Given the description of an element on the screen output the (x, y) to click on. 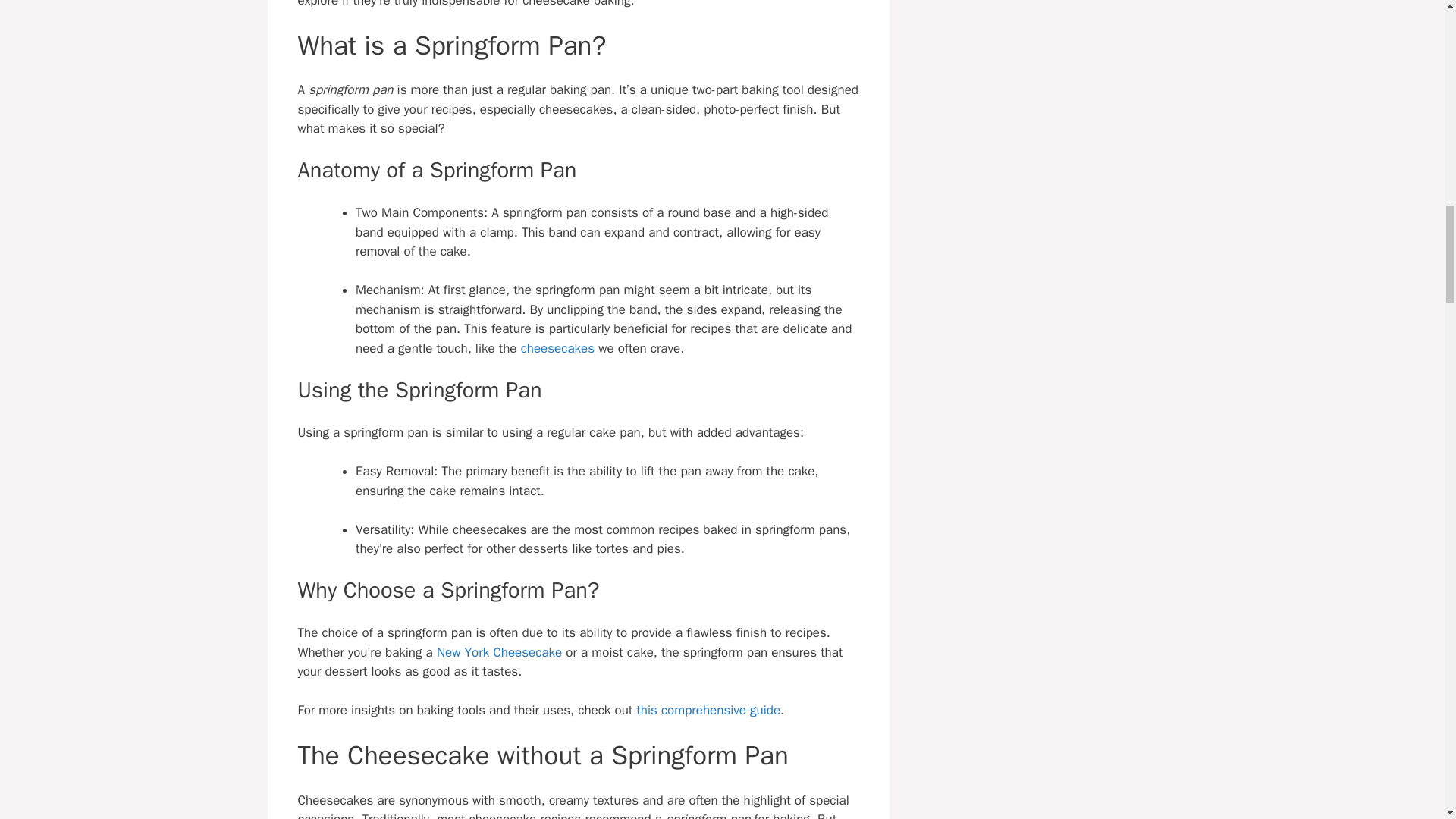
this comprehensive guide (708, 709)
New York Cheesecake (499, 652)
cheesecakes (557, 348)
